Given the description of an element on the screen output the (x, y) to click on. 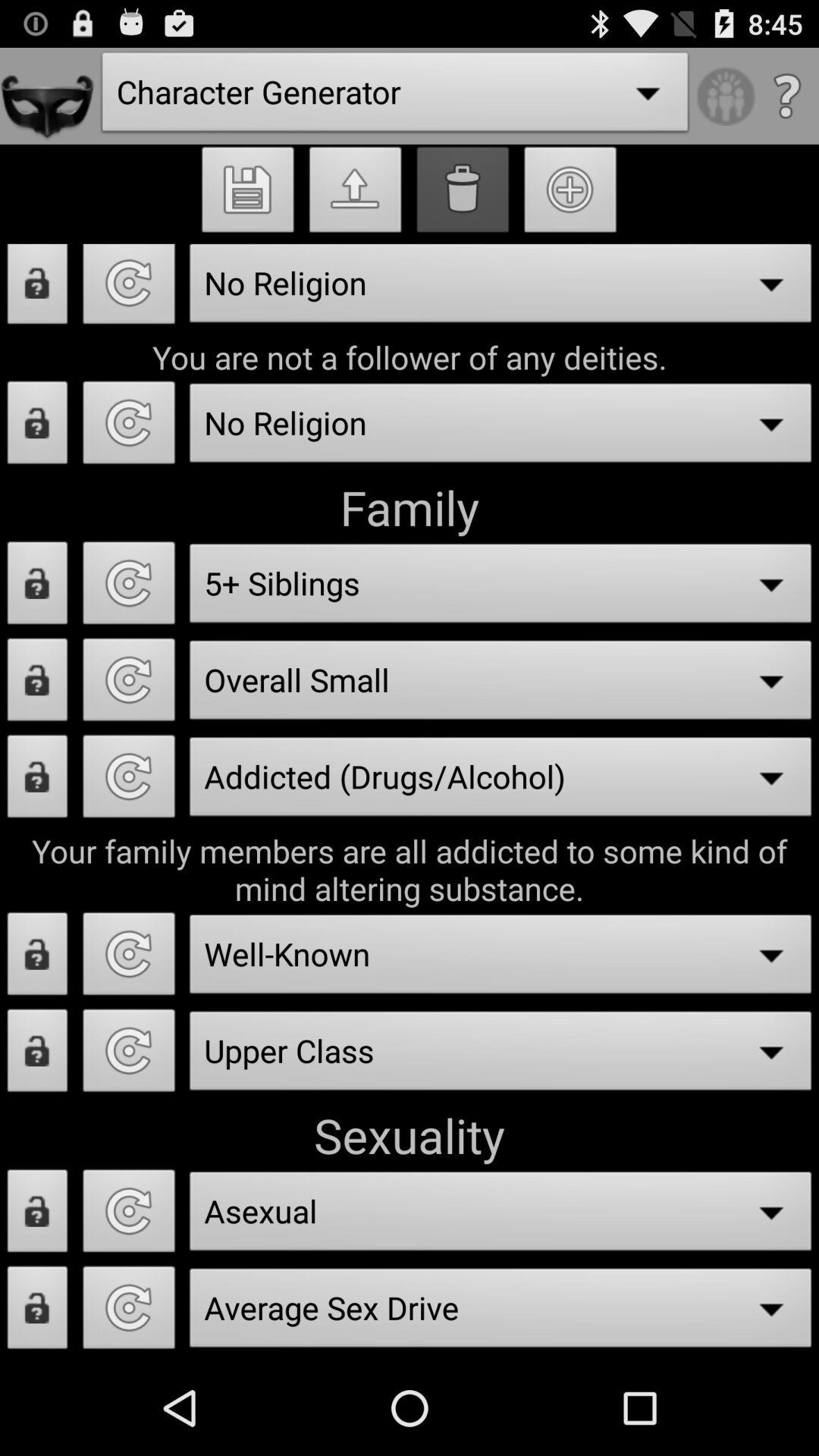
overall small (129, 683)
